Given the description of an element on the screen output the (x, y) to click on. 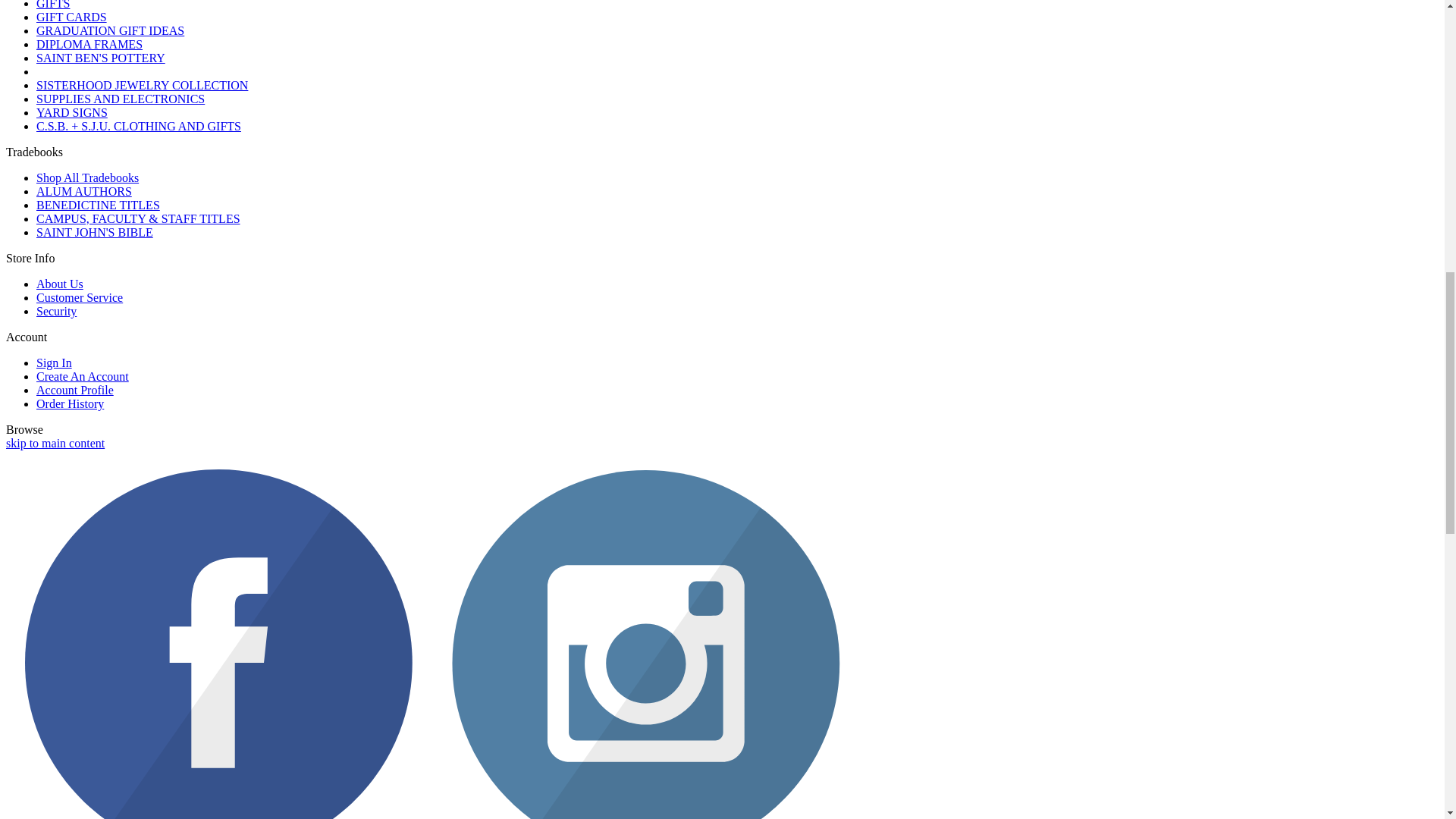
SISTERHOOD JEWELRY COLLECTION (141, 84)
SAINT BEN'S POTTERY (100, 57)
skip navigation (54, 442)
Shop All Tradebooks (87, 177)
GIFT CARDS (71, 16)
GRADUATION GIFT IDEAS (110, 30)
DIPLOMA FRAMES (89, 43)
YARD SIGNS (71, 112)
SUPPLIES AND ELECTRONICS (120, 98)
GIFTS (52, 4)
